Given the description of an element on the screen output the (x, y) to click on. 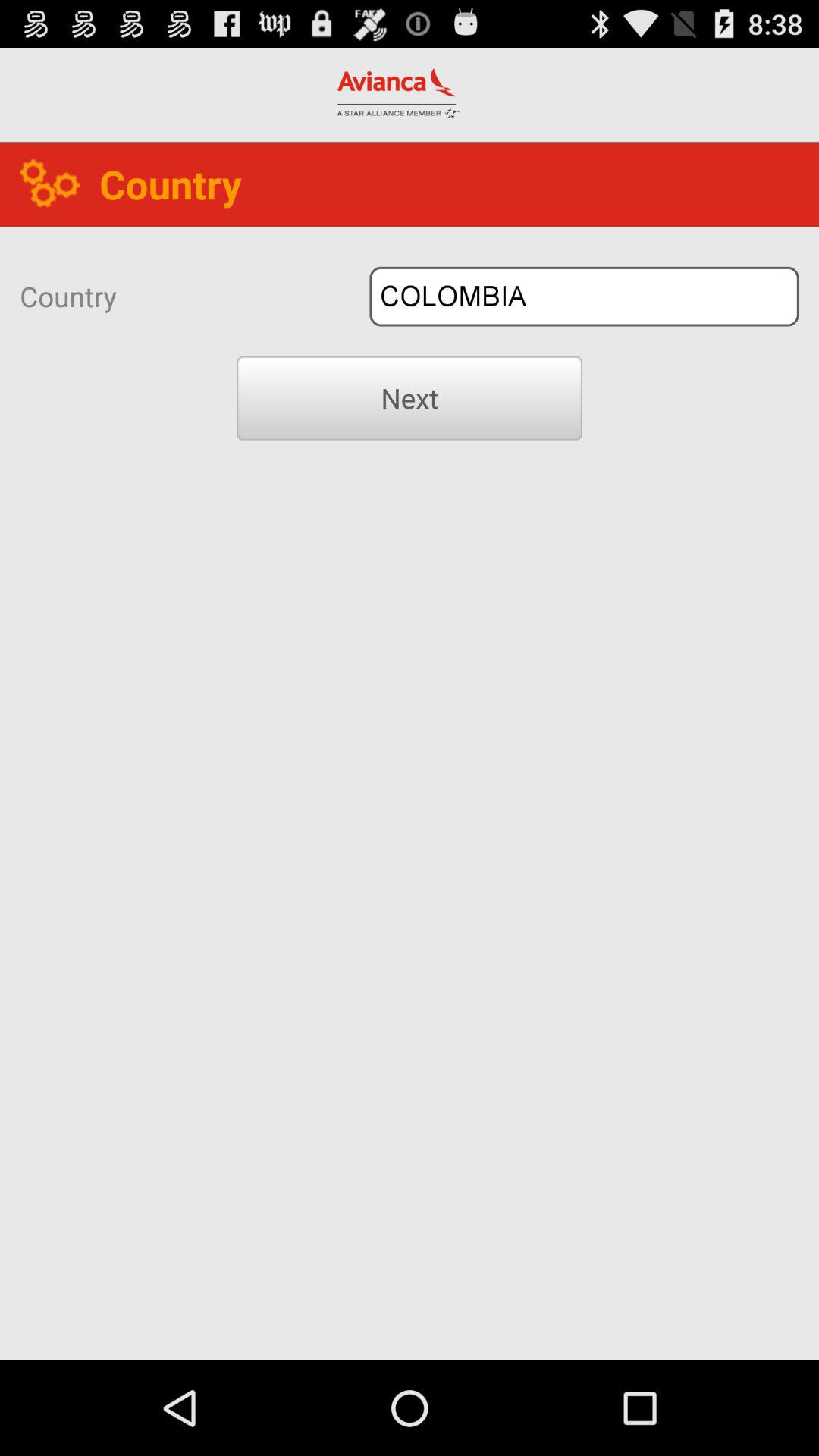
launch the icon below the colombia icon (409, 398)
